Given the description of an element on the screen output the (x, y) to click on. 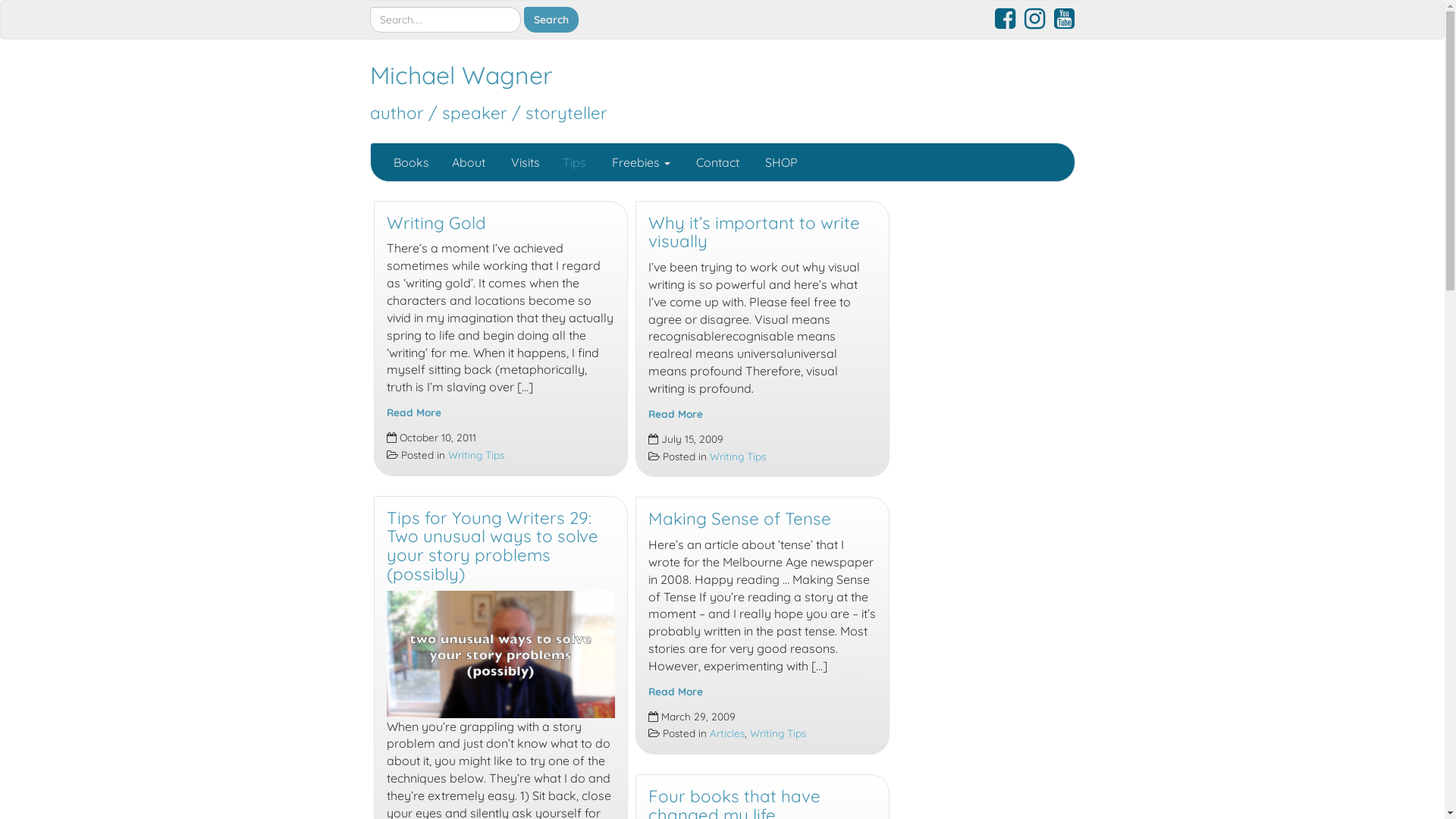
 Freebies Element type: text (639, 162)
Tips Element type: text (573, 162)
Writing Tips Element type: text (737, 455)
Making Sense of Tense Element type: text (738, 518)
 Visits Element type: text (522, 162)
Writing Tips Element type: text (475, 454)
Books Element type: text (411, 162)
Search Element type: text (550, 19)
Read More Element type: text (413, 411)
Writing Gold Element type: text (436, 222)
Writing Tips Element type: text (777, 732)
Articles Element type: text (726, 732)
Read More Element type: text (674, 413)
Read More Element type: text (674, 690)
 SHOP Element type: text (779, 162)
 Contact Element type: text (714, 162)
About Element type: text (467, 162)
author / speaker / storyteller Element type: text (488, 112)
Michael Wagner Element type: text (461, 74)
